Given the description of an element on the screen output the (x, y) to click on. 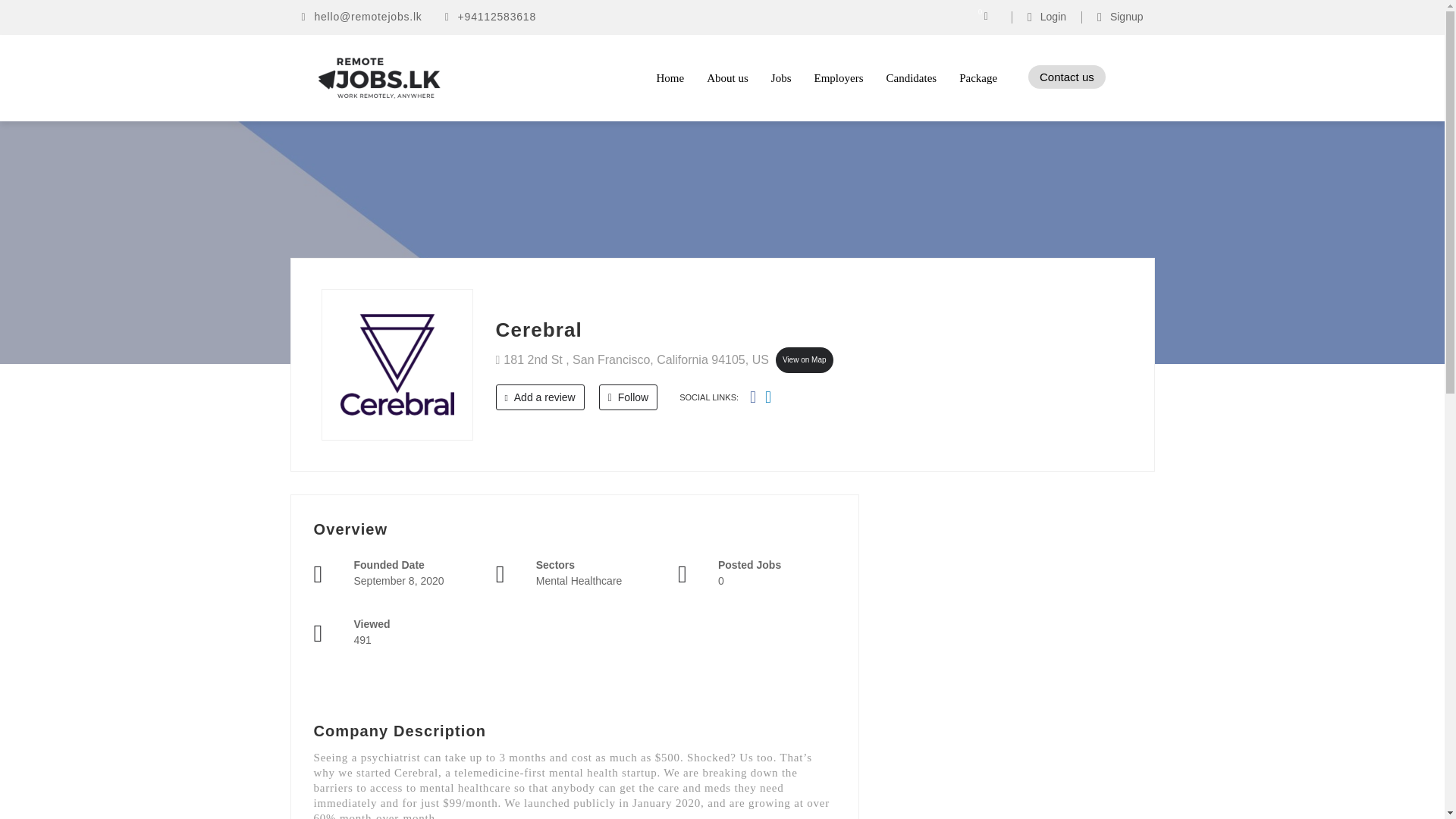
Add a review (540, 396)
Login (1046, 17)
View on Map (804, 360)
Contact us (1066, 76)
Signup (1119, 17)
0 (989, 16)
Remotejobs.lk (448, 77)
Follow (628, 396)
